Given the description of an element on the screen output the (x, y) to click on. 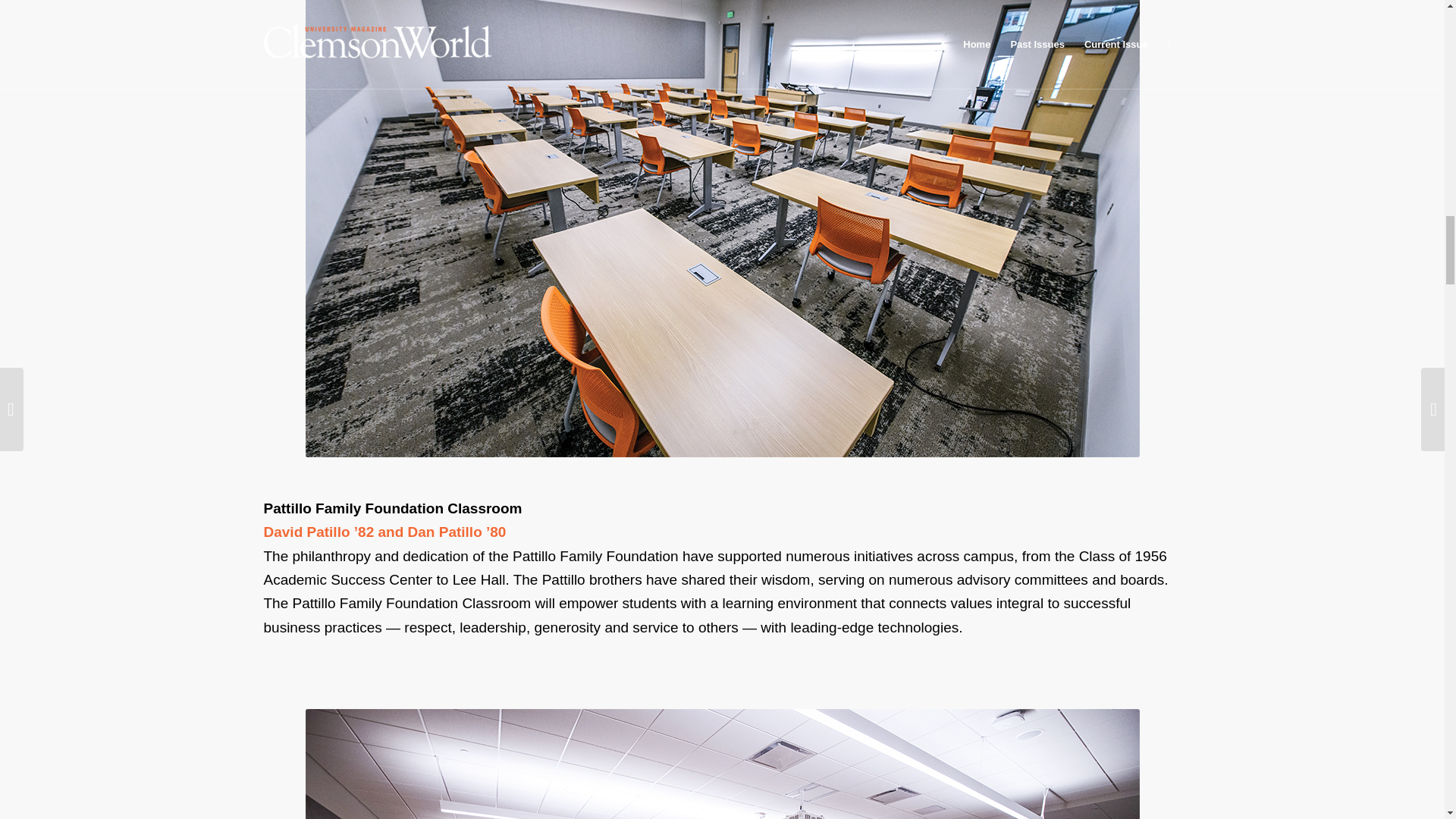
Prater Classroom (721, 764)
